Given the description of an element on the screen output the (x, y) to click on. 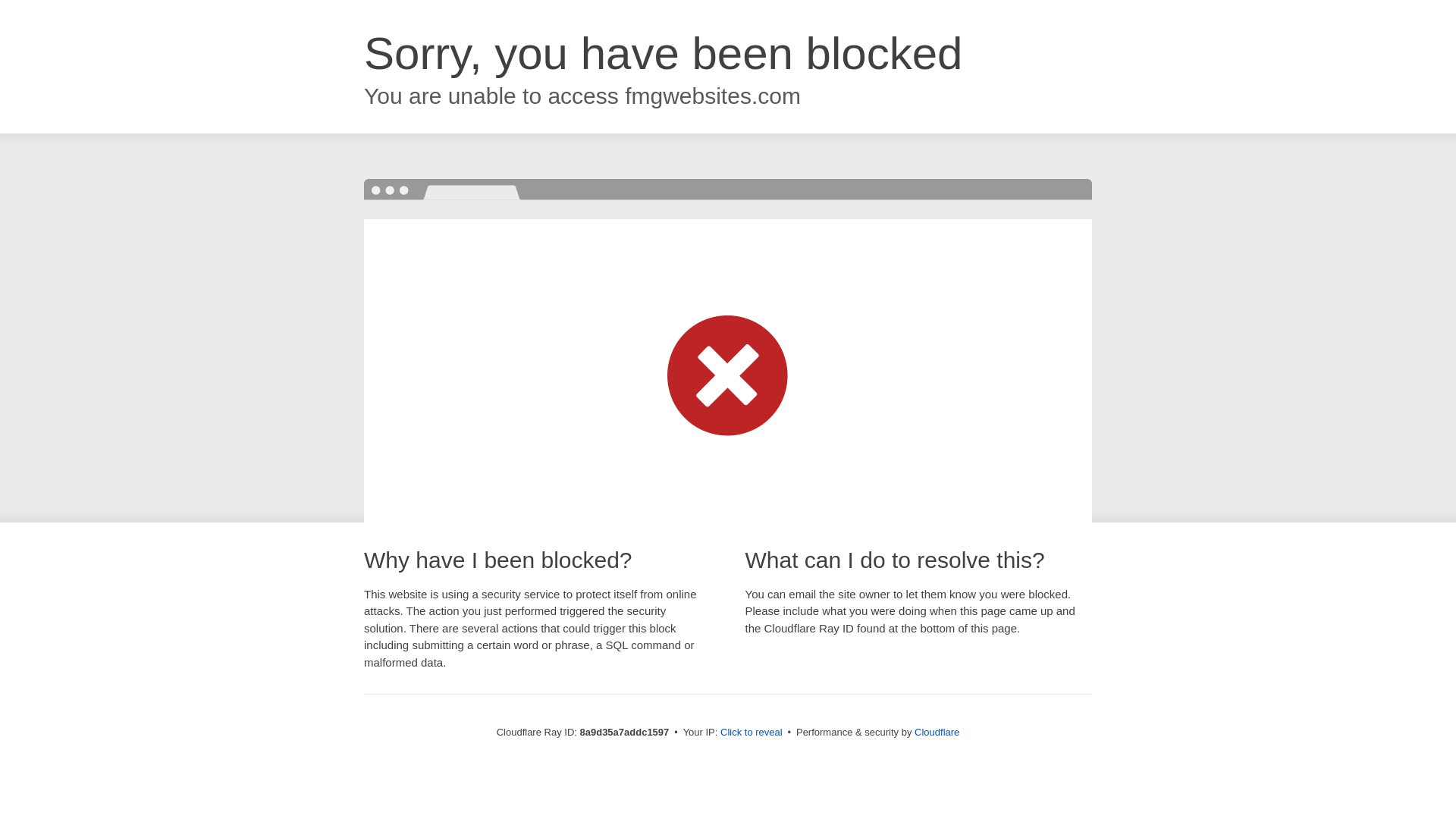
Click to reveal (751, 732)
Cloudflare (936, 731)
